Given the description of an element on the screen output the (x, y) to click on. 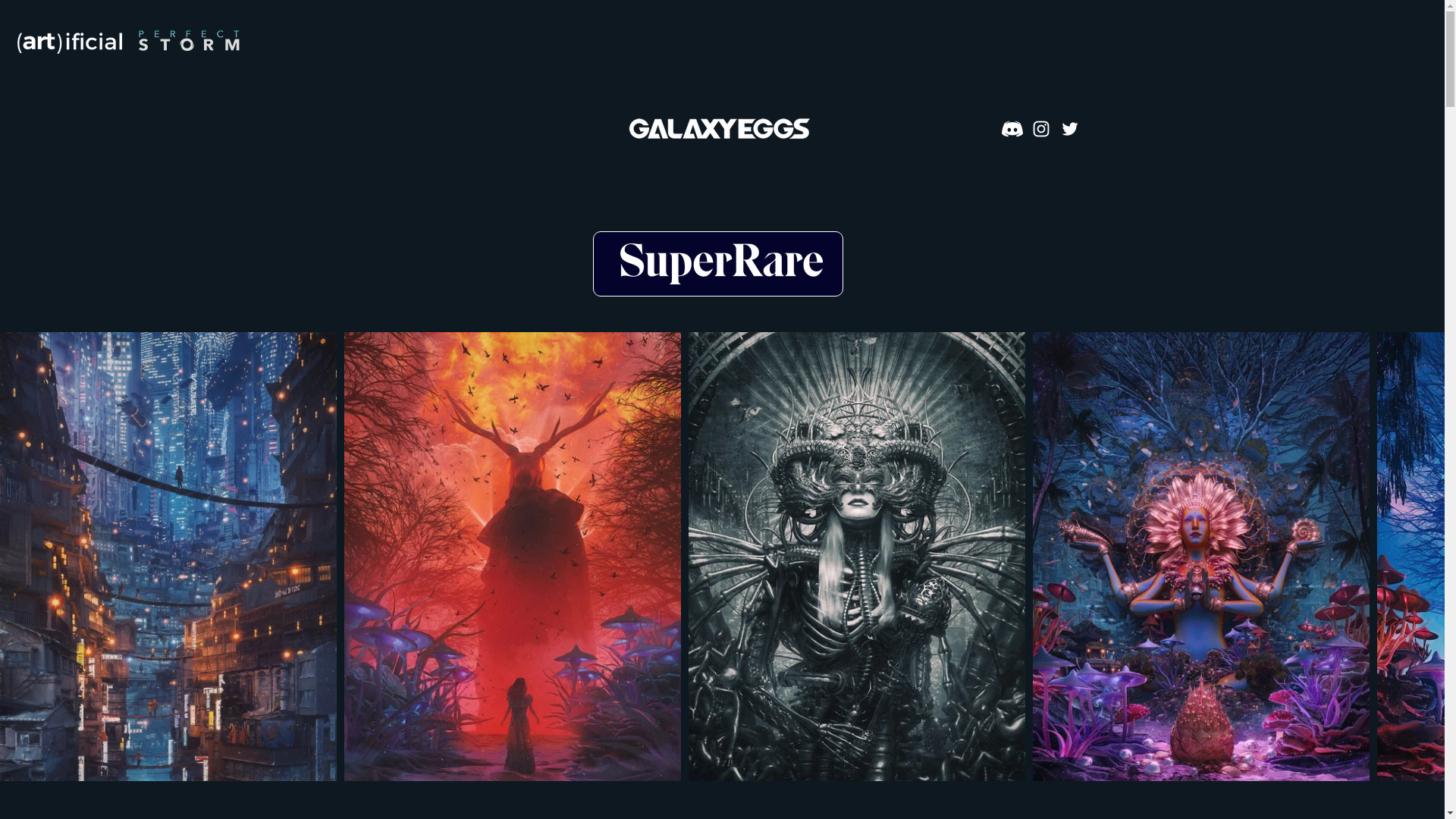
SuperRare-white.png (721, 263)
artificial-white.png (69, 43)
